Given the description of an element on the screen output the (x, y) to click on. 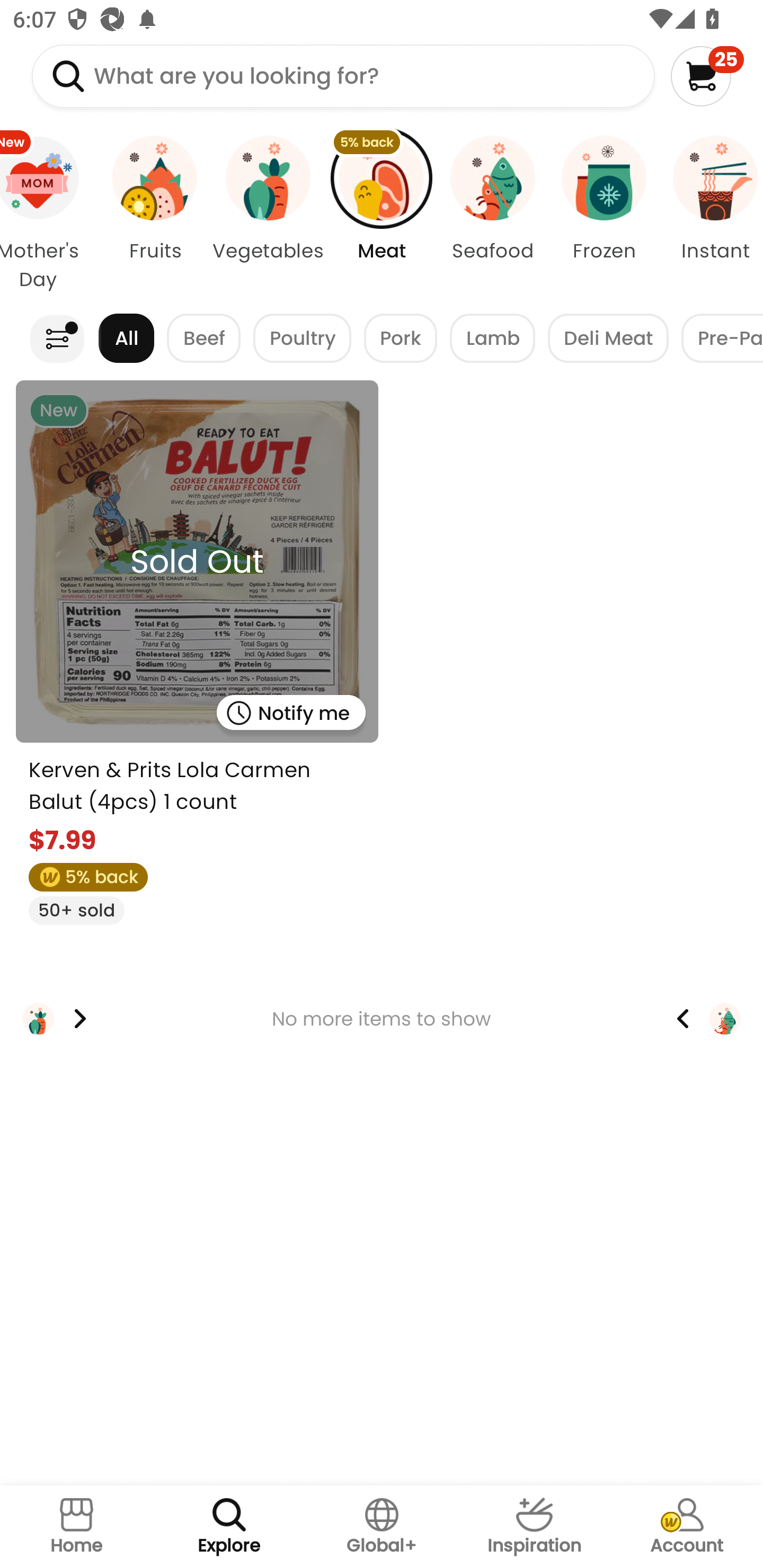
What are you looking for? (343, 75)
25 (706, 75)
New Mother's Day (49, 214)
Fruits (154, 214)
Vegetables (267, 214)
5% back Meat (381, 214)
Seafood (492, 214)
Frozen (603, 214)
Instant (711, 214)
All (126, 337)
Beef (203, 337)
Poultry (301, 337)
Pork (400, 337)
Lamb (492, 337)
Deli Meat (607, 337)
Pre-Packaged (722, 337)
Notify me (290, 712)
